Given the description of an element on the screen output the (x, y) to click on. 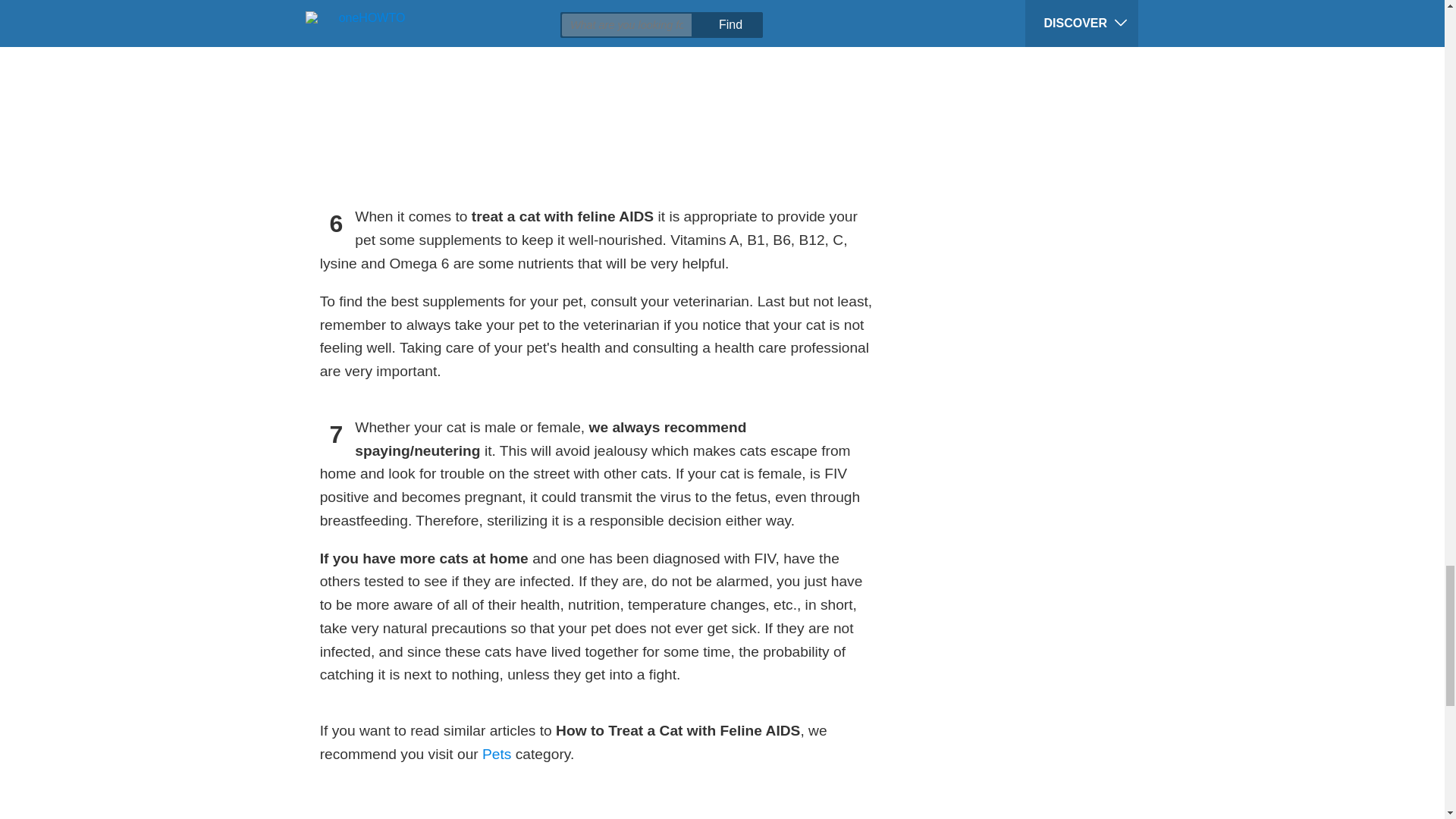
Pets (496, 754)
